Given the description of an element on the screen output the (x, y) to click on. 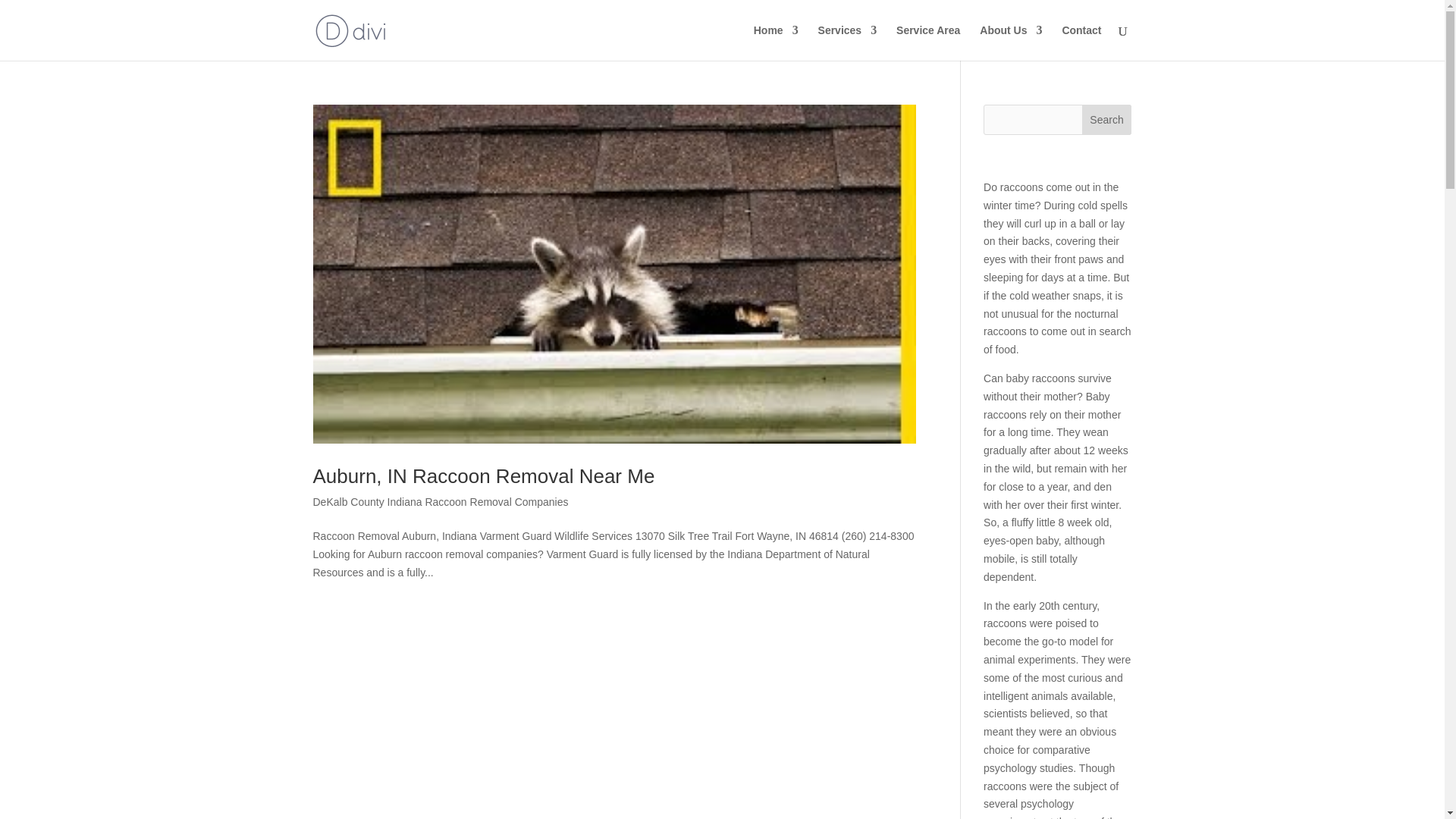
Auburn, IN Raccoon Removal Near Me (483, 476)
Contact (1080, 42)
About Us (1010, 42)
DeKalb County Indiana Raccoon Removal Companies (440, 501)
Services (847, 42)
Home (775, 42)
Search (1106, 119)
Service Area (927, 42)
